Given the description of an element on the screen output the (x, y) to click on. 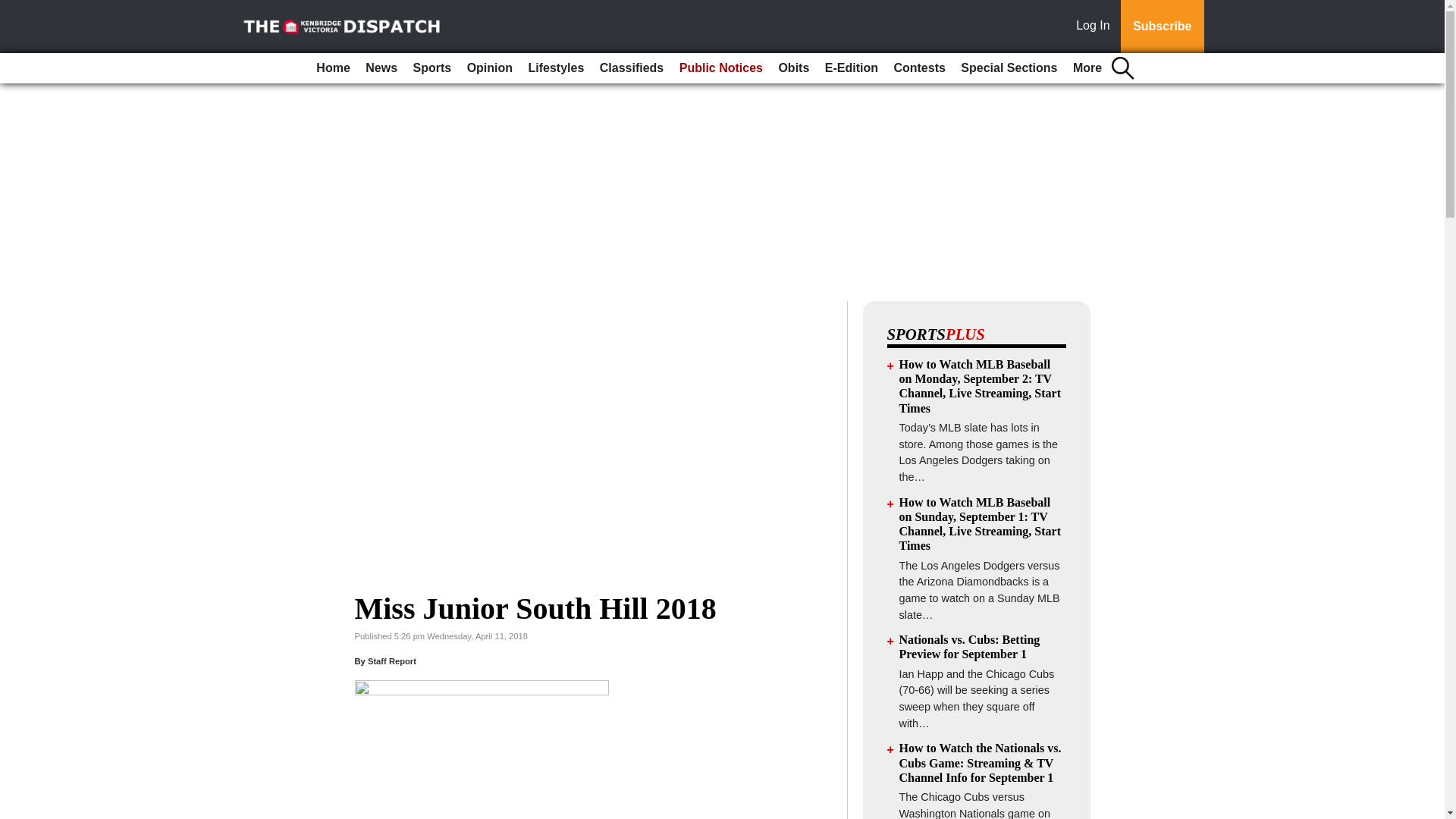
News (381, 68)
E-Edition (850, 68)
Nationals vs. Cubs: Betting Preview for September 1 (970, 646)
Contests (918, 68)
More (1087, 68)
Opinion (489, 68)
Staff Report (392, 660)
Go (13, 9)
